Given the description of an element on the screen output the (x, y) to click on. 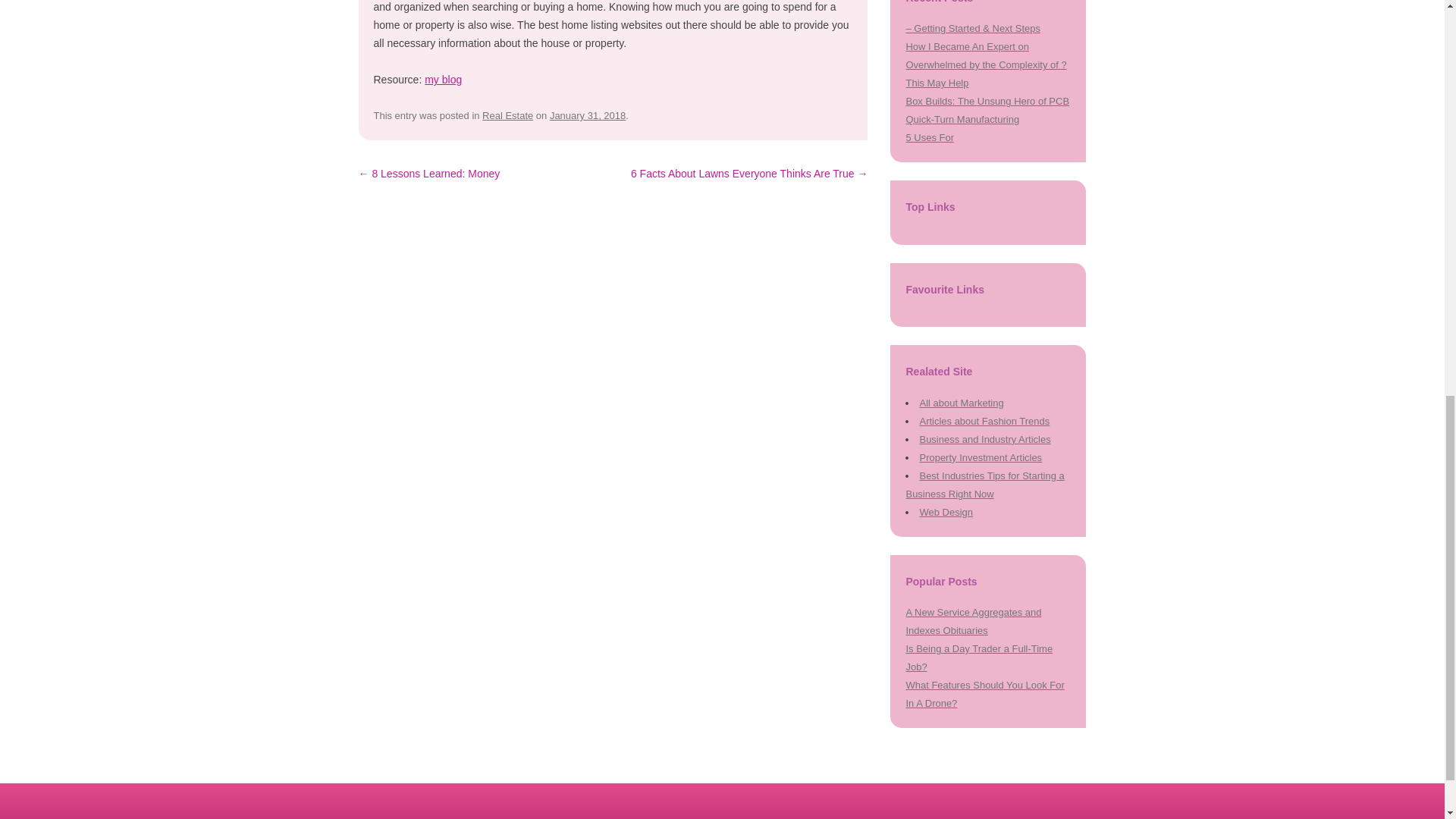
A New Service Aggregates and Indexes Obituaries (973, 621)
How I Became An Expert on (966, 46)
What Features Should You Look For In A Drone? (984, 694)
January 31, 2018 (588, 115)
Is Being a Day Trader a Full-Time Job? (978, 657)
my blog (443, 79)
5:00 pm (588, 115)
Real Estate (506, 115)
